Given the description of an element on the screen output the (x, y) to click on. 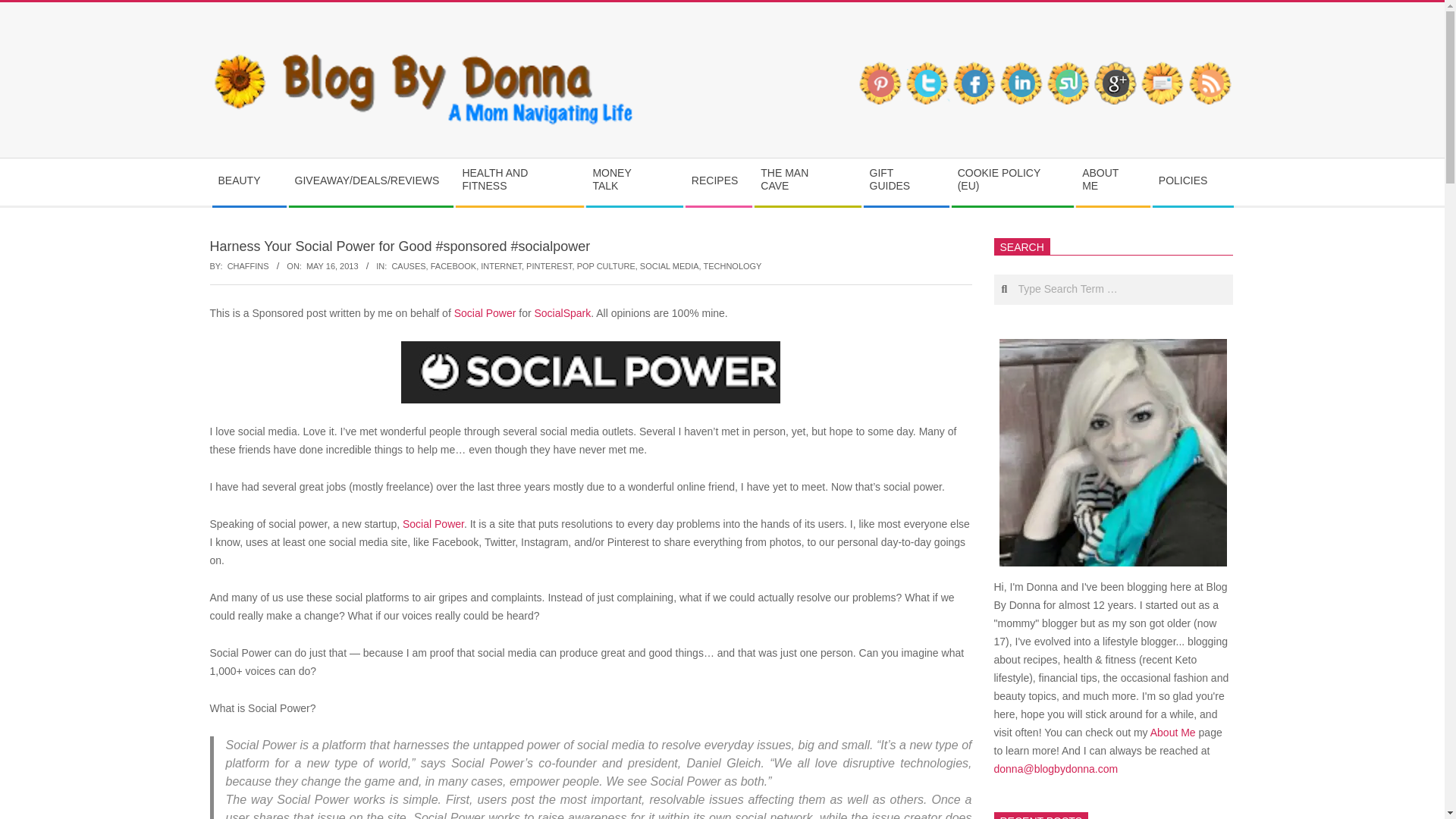
THE MAN CAVE (806, 181)
ABOUT ME (1112, 181)
CHAFFINS (248, 266)
Thursday, May 16, 2013, 10:02 am (331, 266)
POLICIES (1192, 180)
POP CULTURE (605, 266)
Posts by Chaffins (248, 266)
GIFT GUIDES (905, 181)
SOCIAL MEDIA (669, 266)
FACEBOOK (453, 266)
RECIPES (718, 180)
PINTEREST (548, 266)
HEALTH AND FITNESS (519, 181)
BEAUTY (248, 180)
MONEY TALK (633, 181)
